Given the description of an element on the screen output the (x, y) to click on. 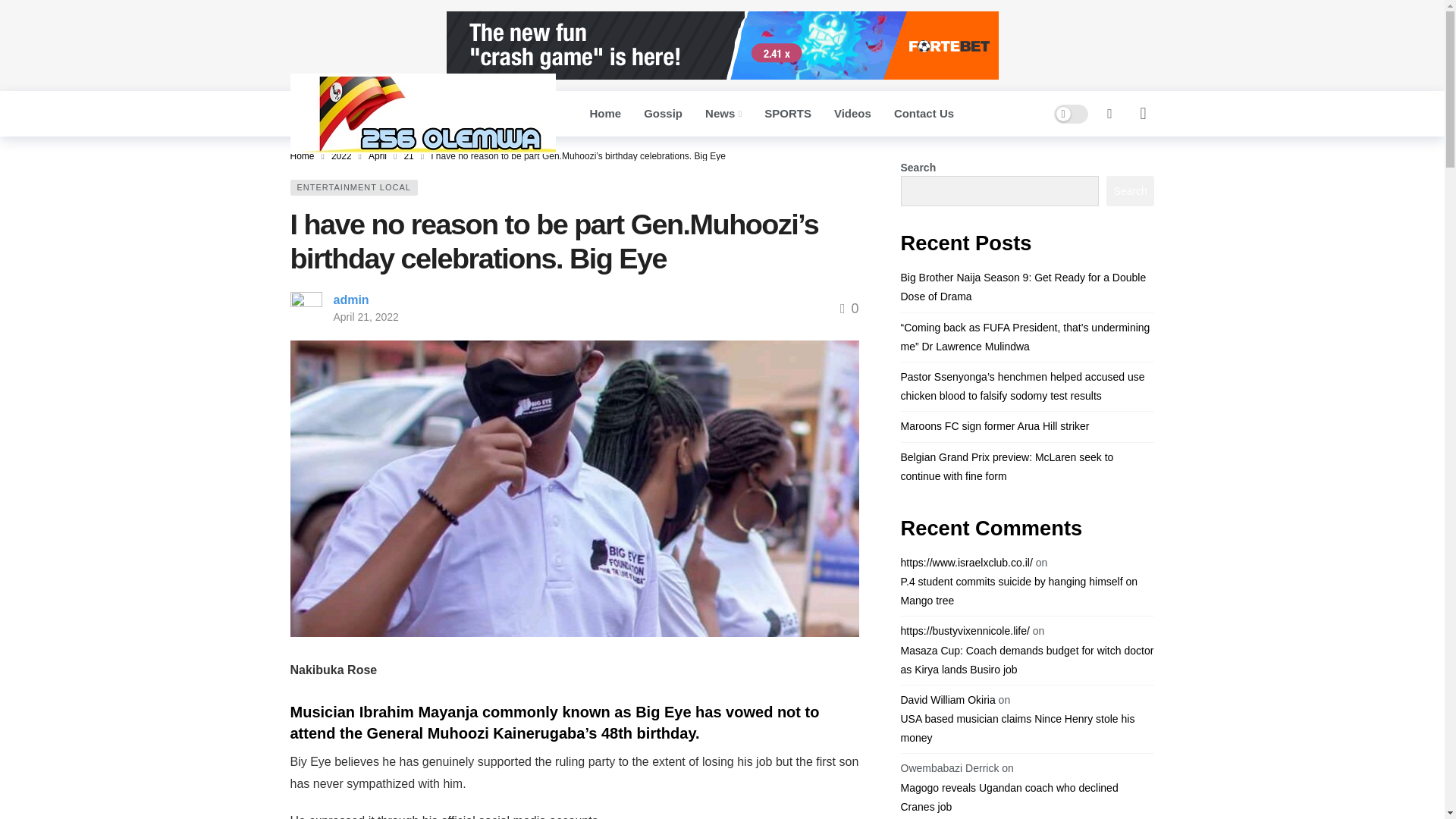
admin (351, 299)
0 (849, 308)
SPORTS (787, 113)
April 21, 2022 (365, 316)
Contact Us (923, 113)
2022 (341, 155)
Home (301, 155)
ENTERTAINMENT LOCAL (352, 187)
Home (604, 113)
April (377, 155)
News (723, 113)
Gossip (662, 113)
21 (408, 155)
Videos (852, 113)
